Given the description of an element on the screen output the (x, y) to click on. 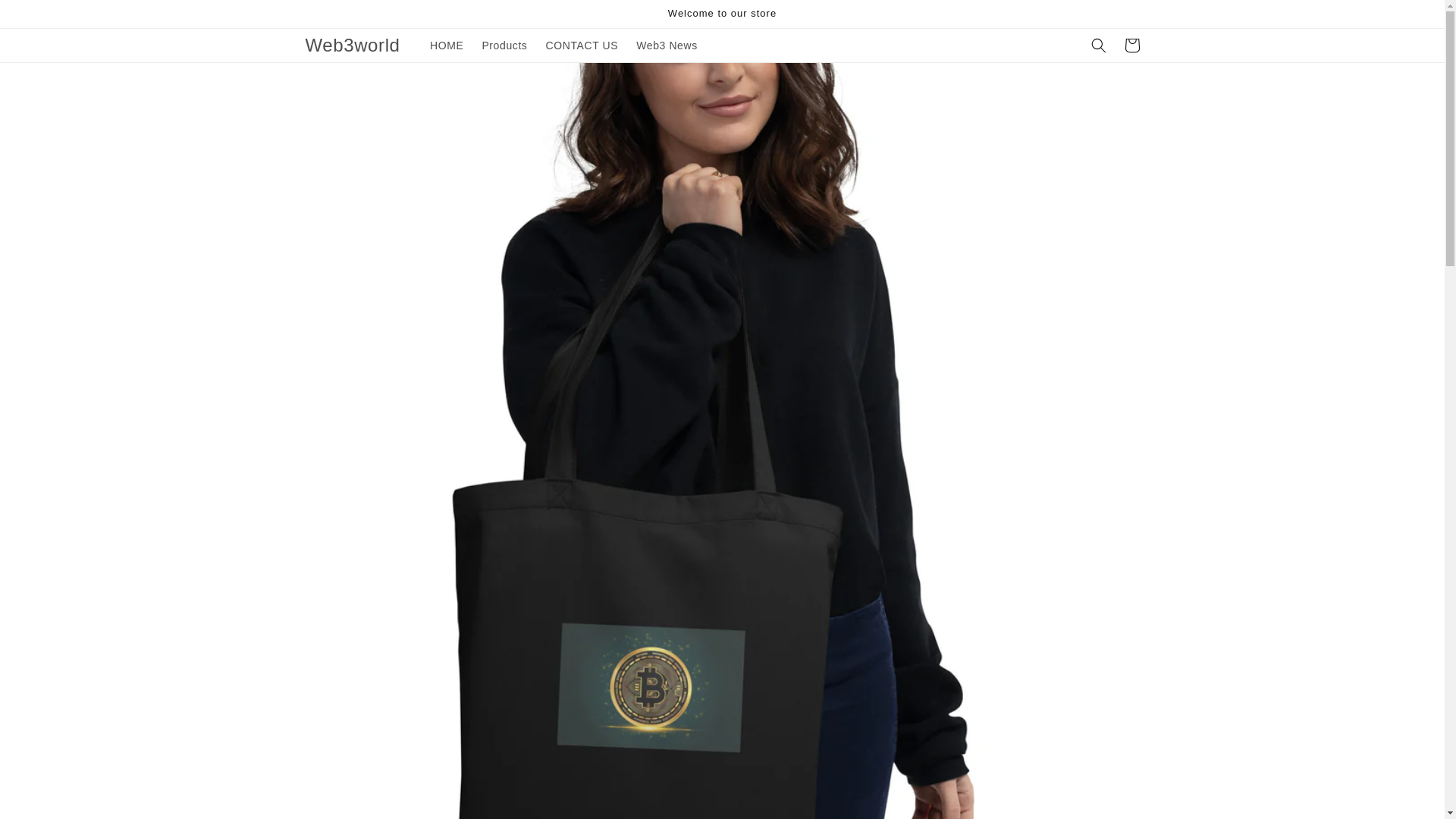
Skip to content (45, 17)
CONTACT US (581, 45)
Web3 News (666, 45)
HOME (445, 45)
Cart (1131, 45)
Web3world (352, 44)
Products (503, 45)
